Given the description of an element on the screen output the (x, y) to click on. 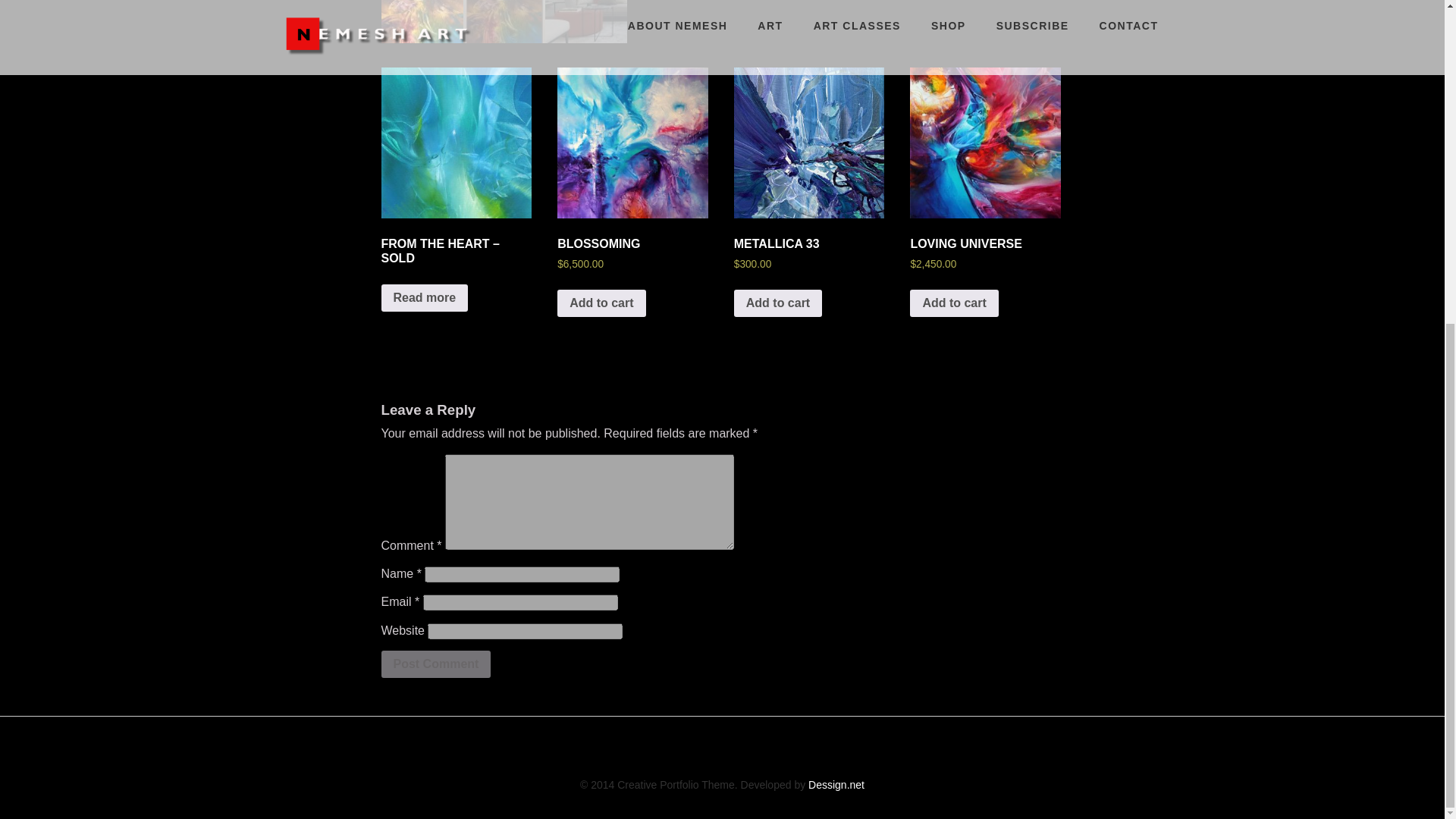
Post Comment (435, 664)
